Given the description of an element on the screen output the (x, y) to click on. 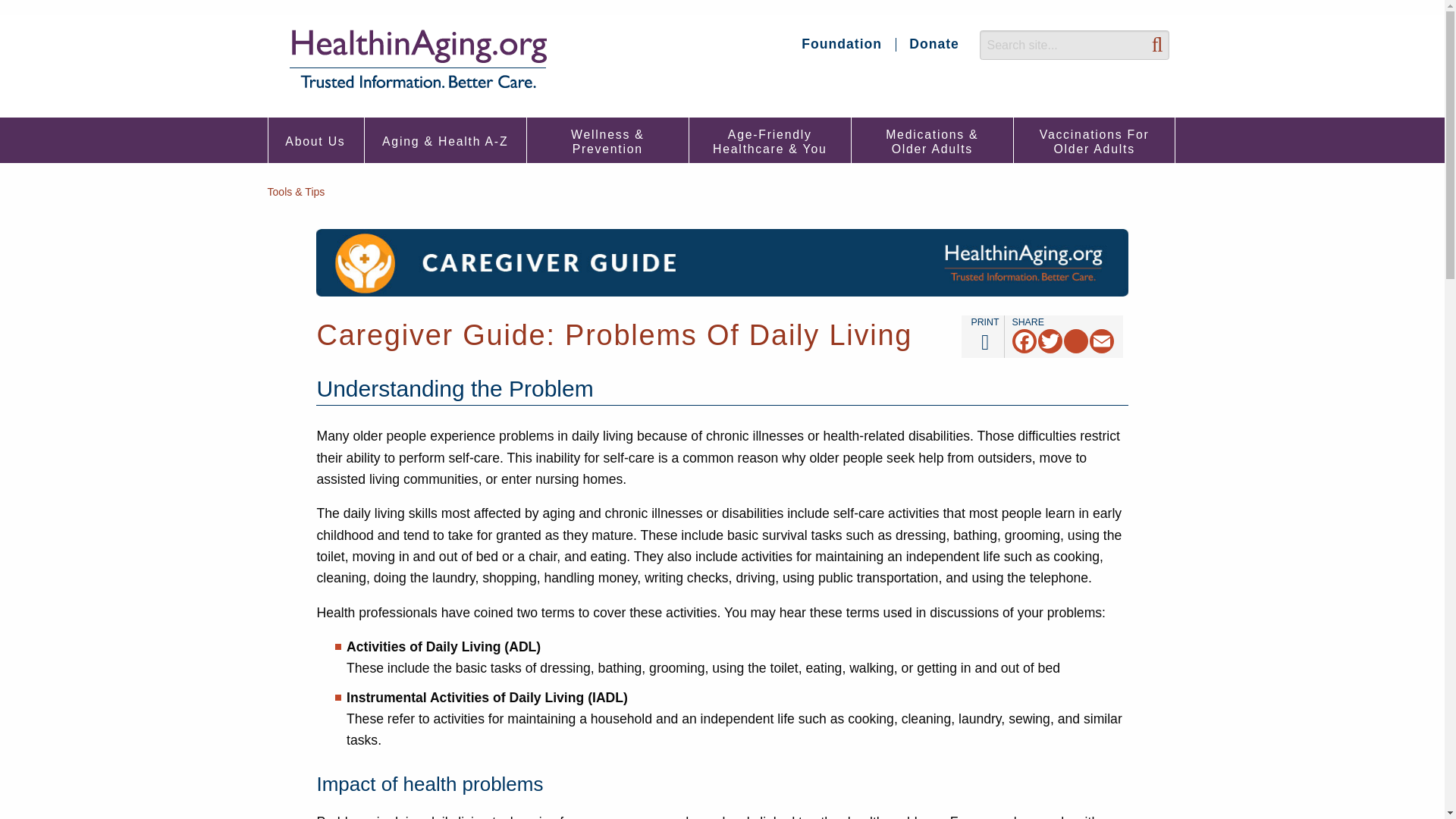
Foundation (842, 44)
About Us (417, 58)
Skip to main content (316, 140)
Donate (3, 3)
